Given the description of an element on the screen output the (x, y) to click on. 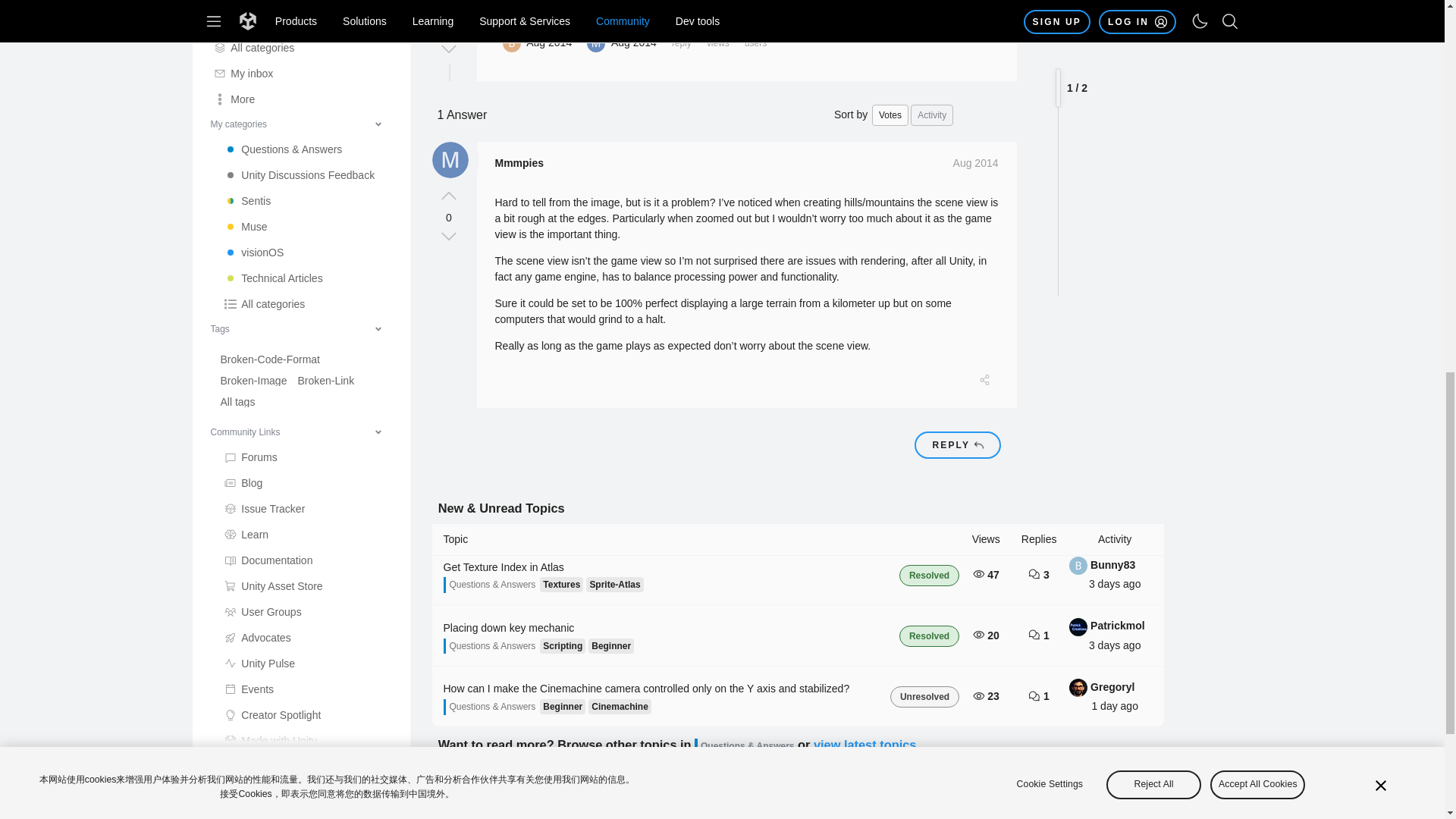
YouTube (306, 46)
Twitch (306, 149)
Twitter (306, 72)
Play (306, 4)
Instagram (306, 124)
Discord (306, 98)
LinkedIn (306, 21)
